Given the description of an element on the screen output the (x, y) to click on. 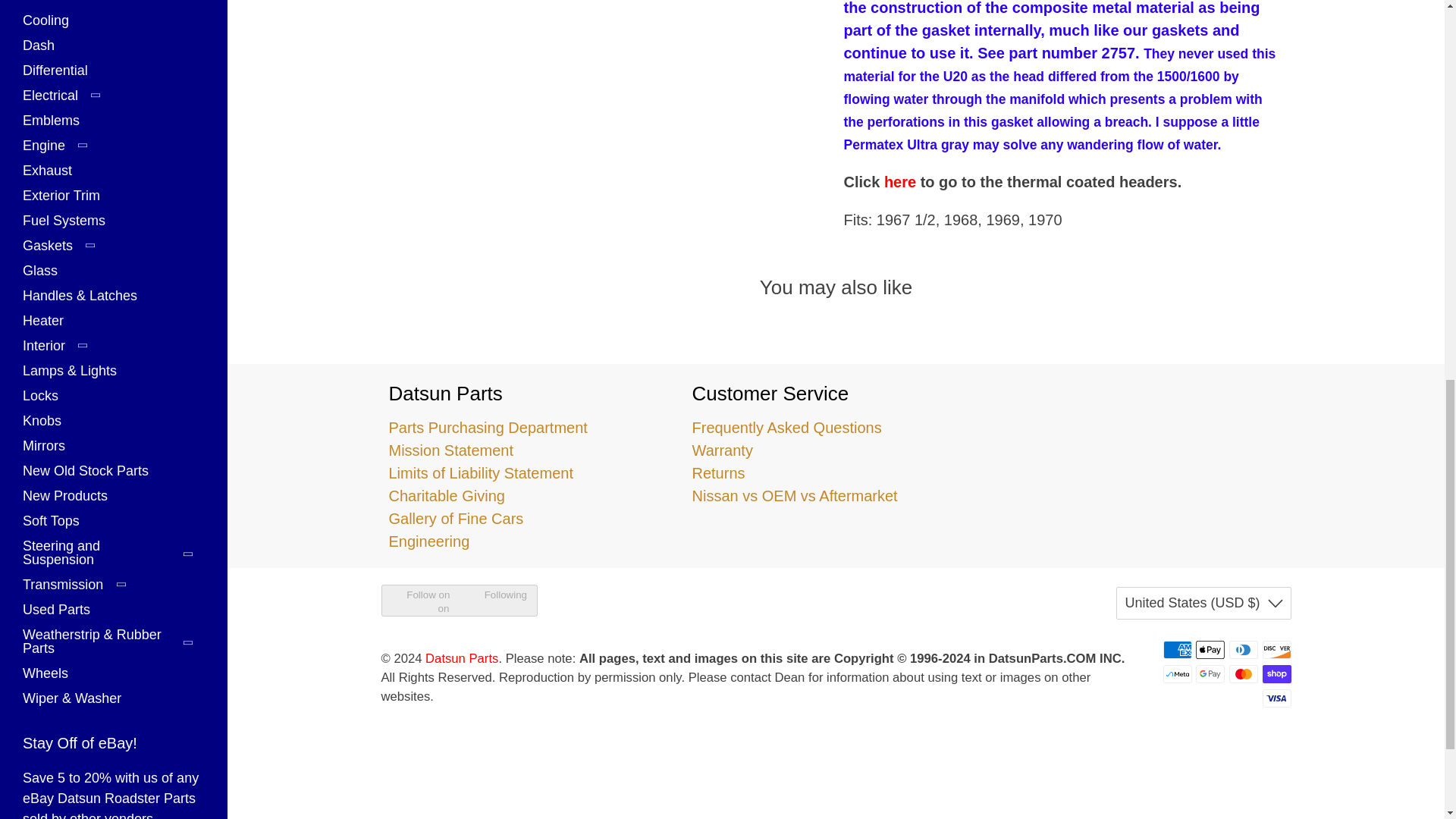
Mastercard (1242, 674)
Shop Pay (1276, 674)
American Express (1177, 649)
Google Pay (1209, 674)
Meta Pay (1177, 674)
Diners Club (1242, 649)
Discover (1276, 649)
Visa (1276, 698)
Datsun Parts (1138, 434)
Apple Pay (1209, 649)
